Given the description of an element on the screen output the (x, y) to click on. 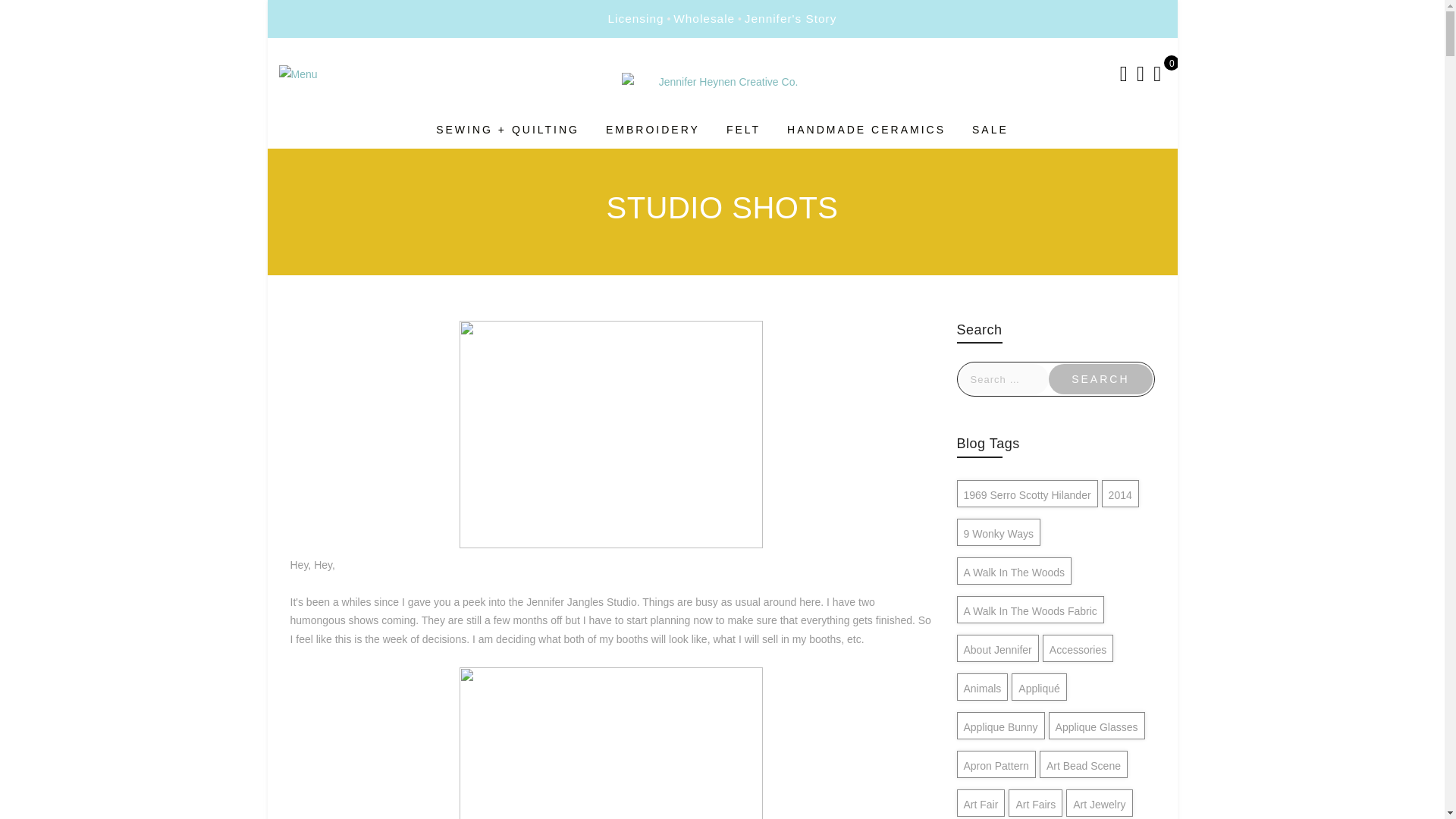
EMBROIDERY (652, 129)
SALE (990, 129)
Wholesale (703, 19)
Search (1099, 378)
Licensing (635, 19)
Jennifer's Story (790, 19)
Search (1099, 378)
FELT (743, 129)
HANDMADE CERAMICS (865, 129)
